Given the description of an element on the screen output the (x, y) to click on. 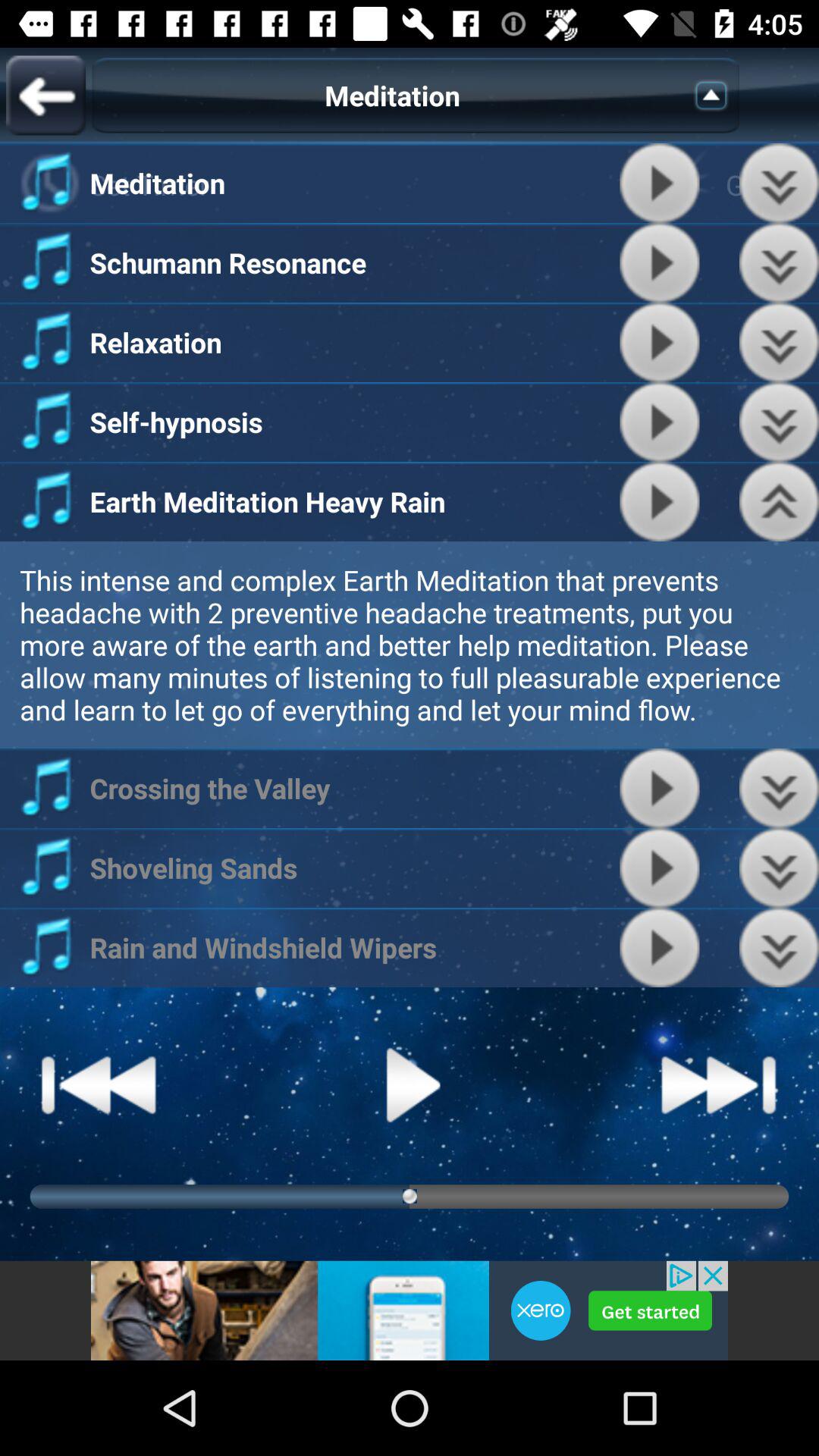
play song (659, 788)
